Given the description of an element on the screen output the (x, y) to click on. 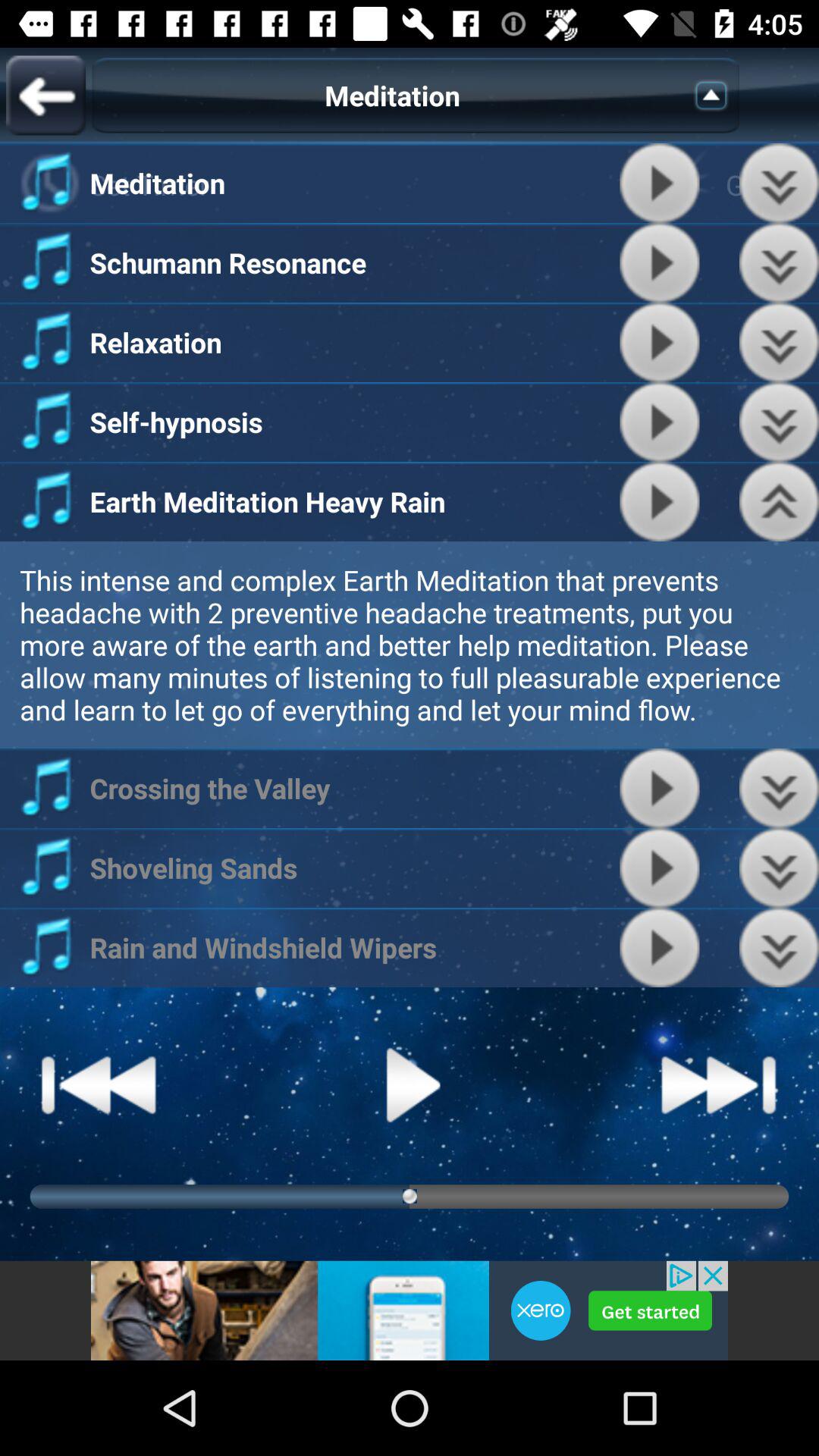
play song (659, 788)
